Given the description of an element on the screen output the (x, y) to click on. 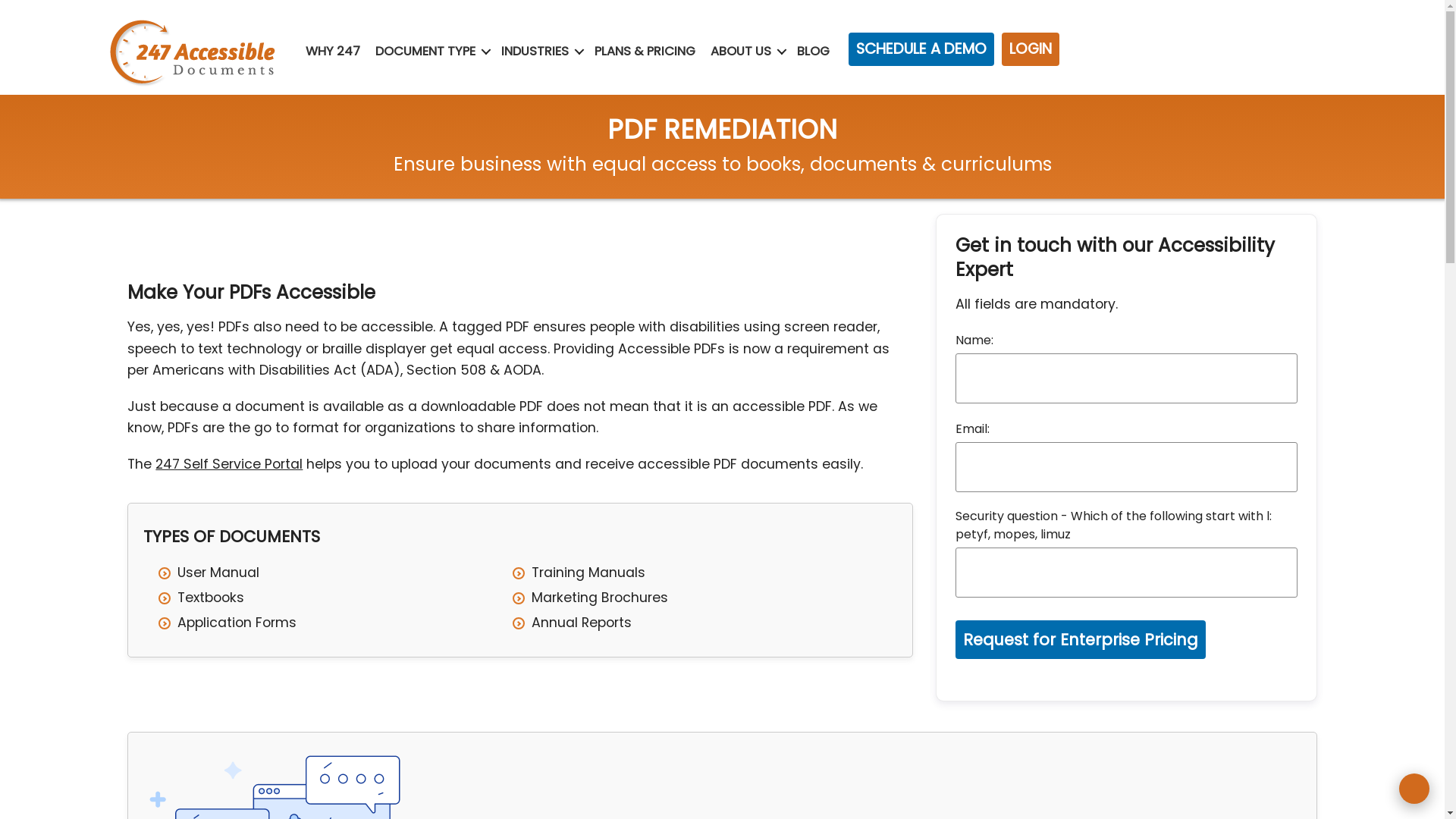
DOCUMENT TYPE Element type: text (425, 51)
PLANS & PRICING Element type: text (644, 51)
ABOUT US Element type: text (740, 51)
Request for Enterprise Pricing Element type: text (1080, 639)
BLOG Element type: text (813, 51)
SCHEDULE A DEMO Element type: text (921, 48)
LOGIN Element type: text (1030, 48)
INDUSTRIES Element type: text (534, 51)
247 Self Service Portal Element type: text (228, 464)
WHY 247 Element type: text (332, 51)
